Given the description of an element on the screen output the (x, y) to click on. 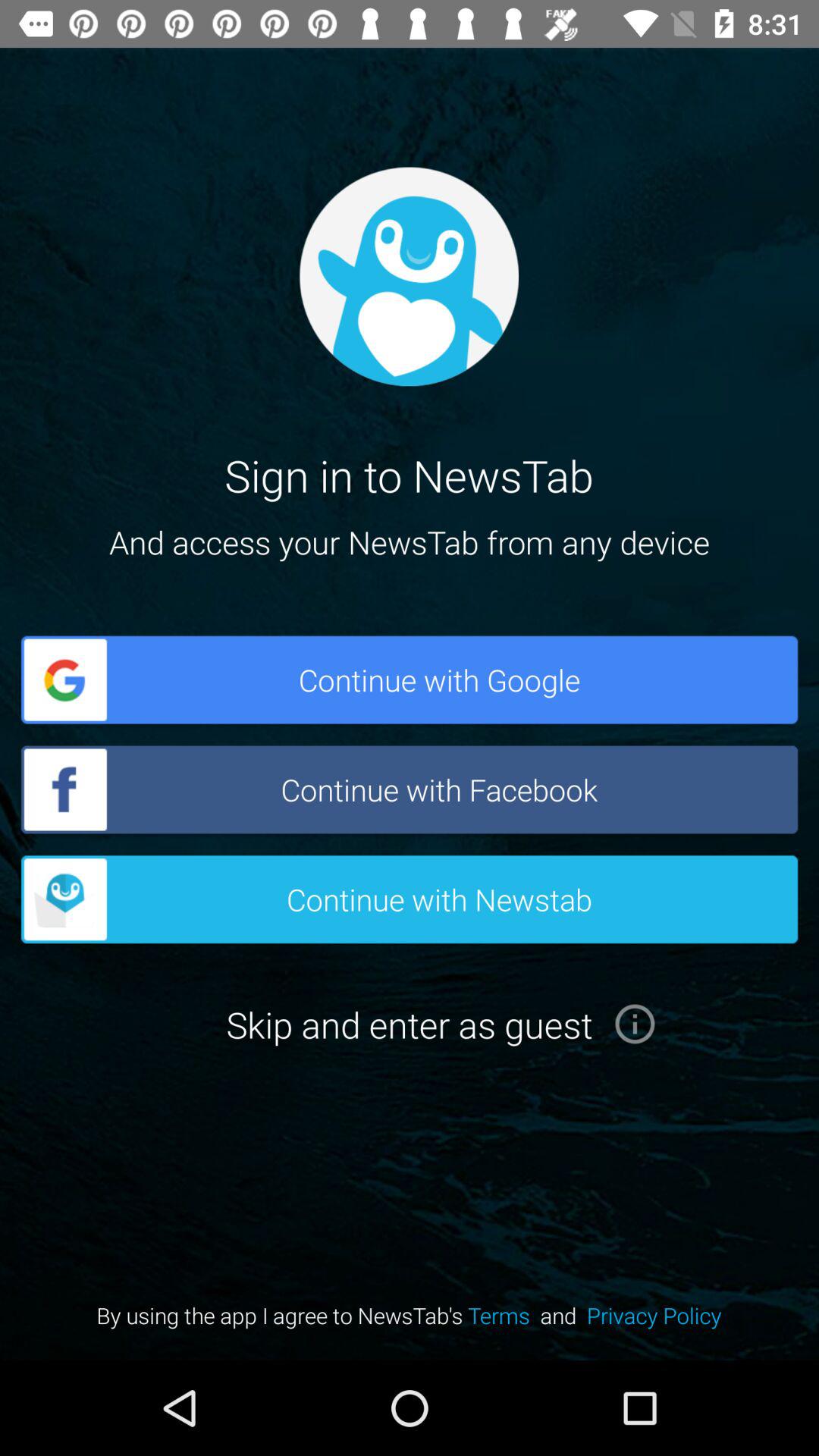
more informations button (634, 1023)
